Given the description of an element on the screen output the (x, y) to click on. 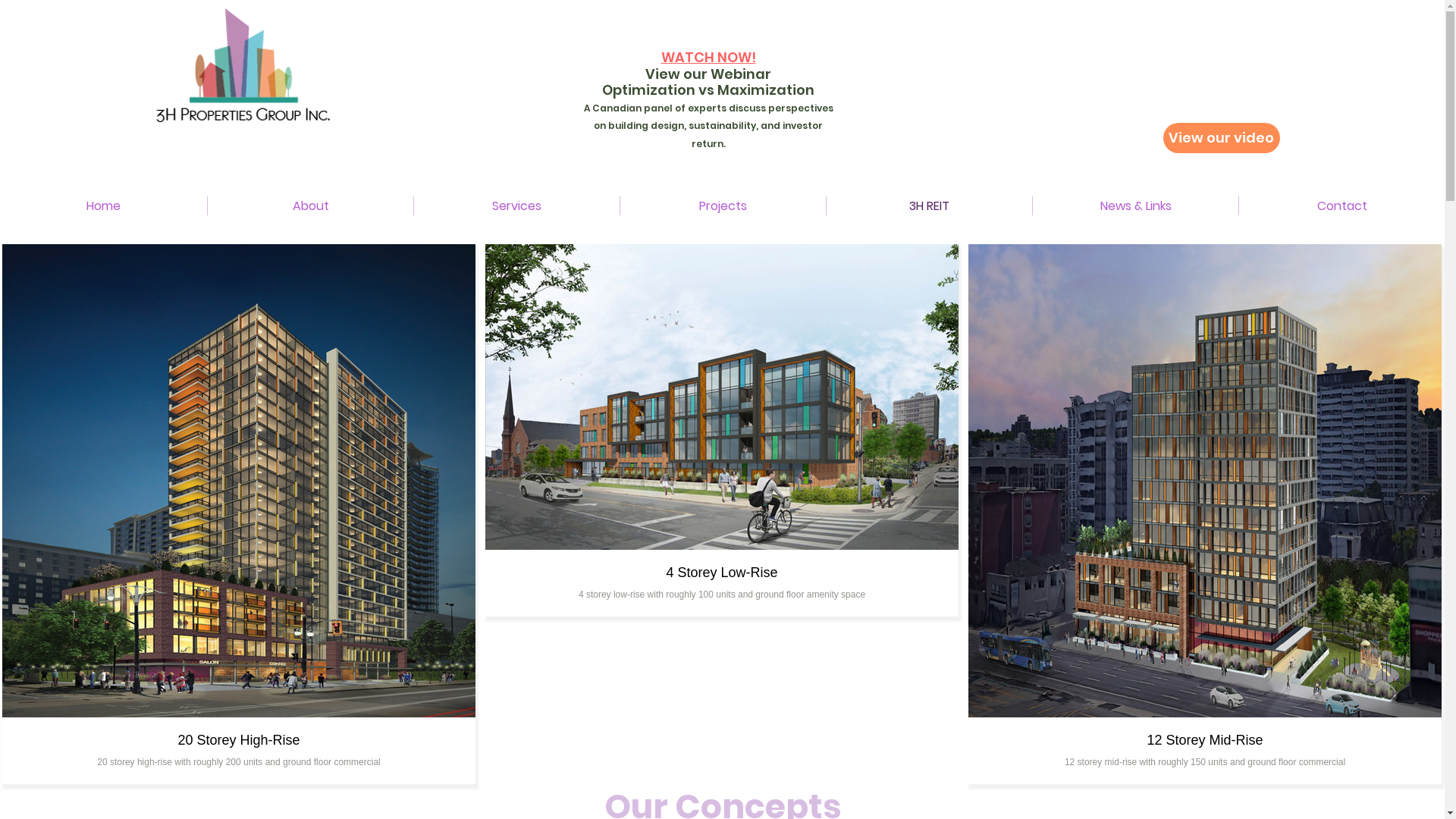
View our video Element type: text (1221, 137)
Services Element type: text (516, 205)
WATCH NOW! Element type: text (708, 56)
News & Links Element type: text (1135, 205)
Contact Element type: text (1341, 205)
Projects Element type: text (722, 205)
3H REIT Element type: text (929, 205)
About Element type: text (310, 205)
Home Element type: text (103, 205)
